Given the description of an element on the screen output the (x, y) to click on. 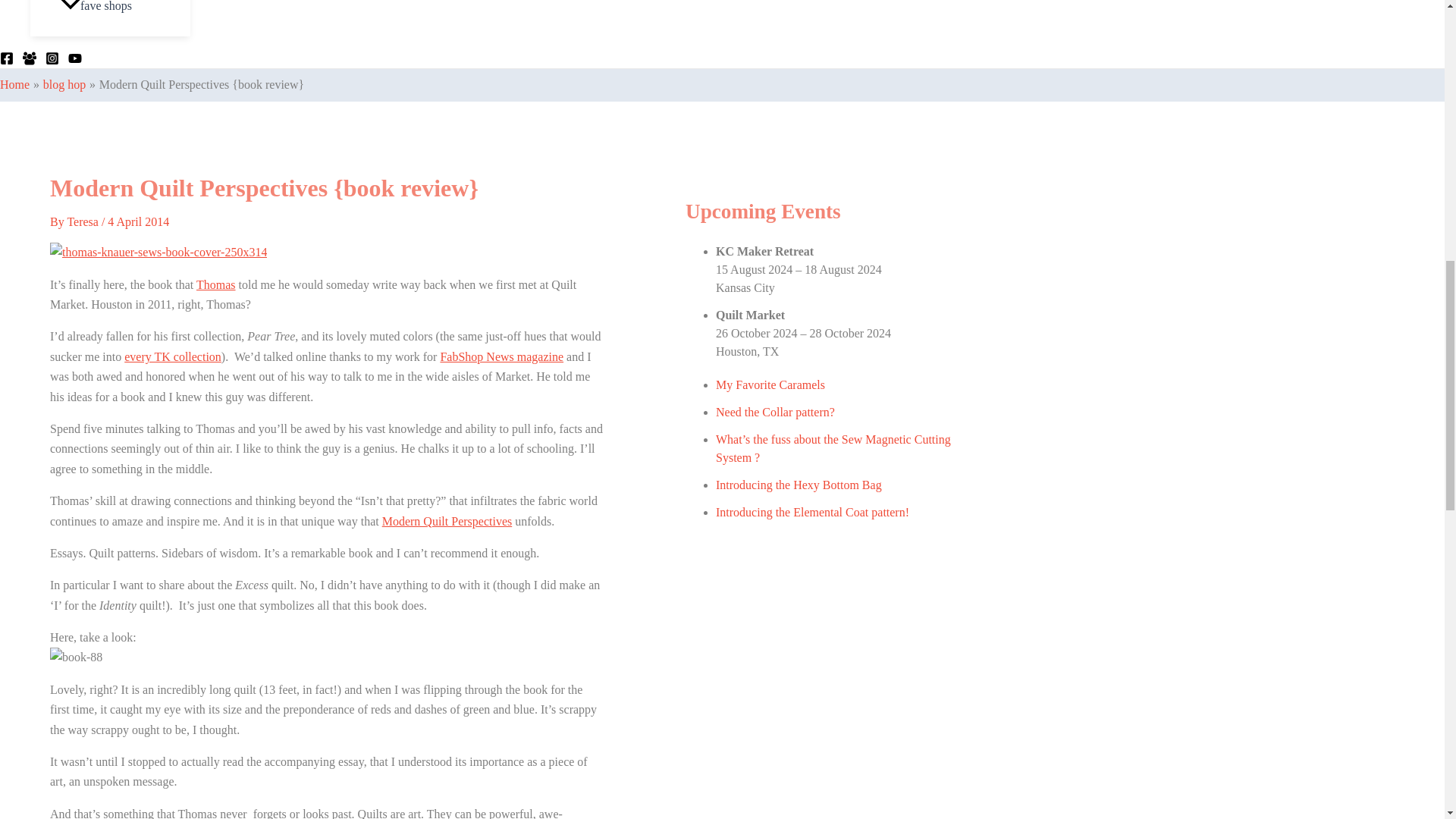
View all posts by Teresa (83, 221)
Facebook Group (29, 60)
Facebook Group (29, 58)
fave shops (125, 18)
